Given the description of an element on the screen output the (x, y) to click on. 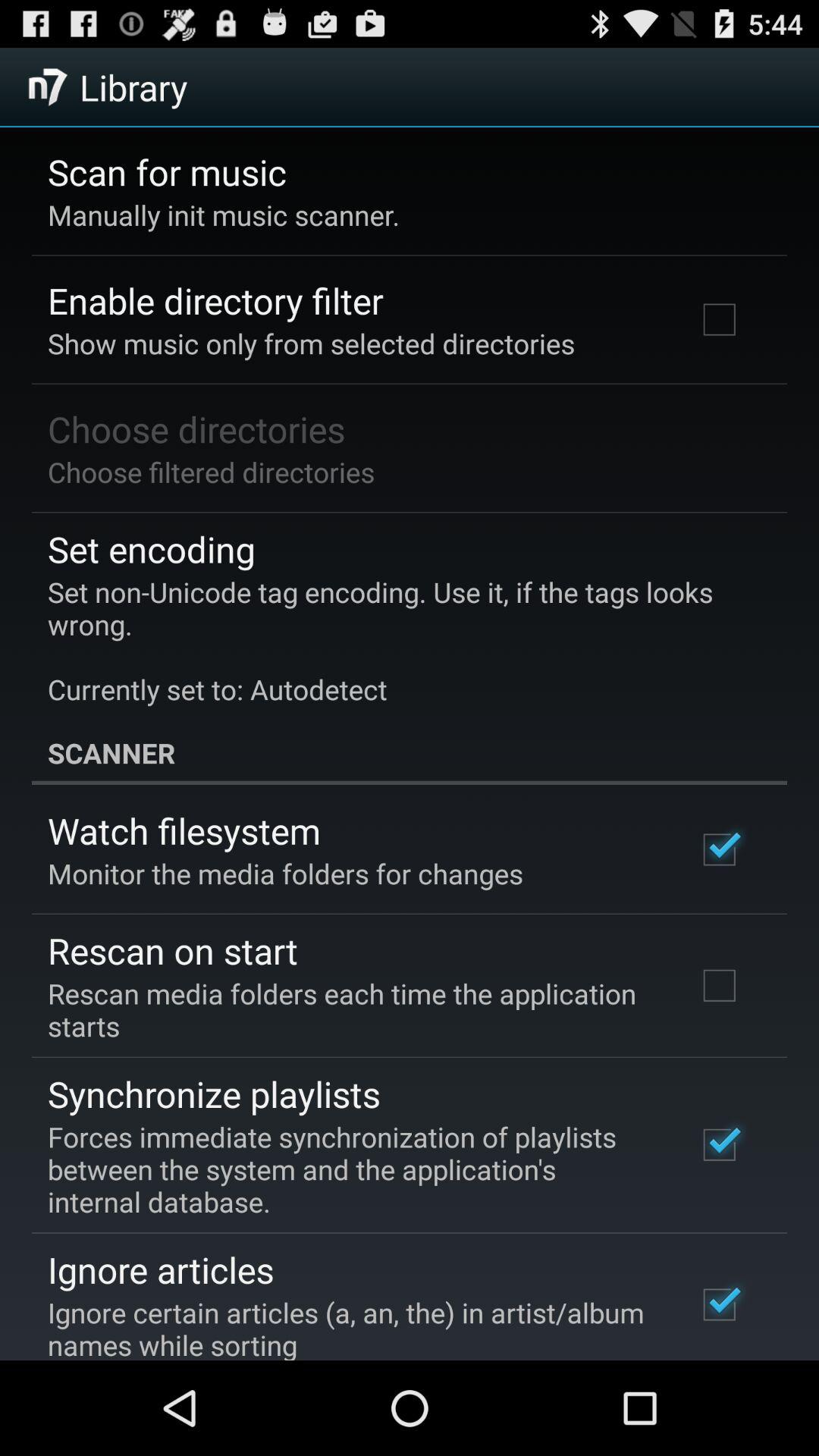
select the rescan on start app (172, 950)
